Given the description of an element on the screen output the (x, y) to click on. 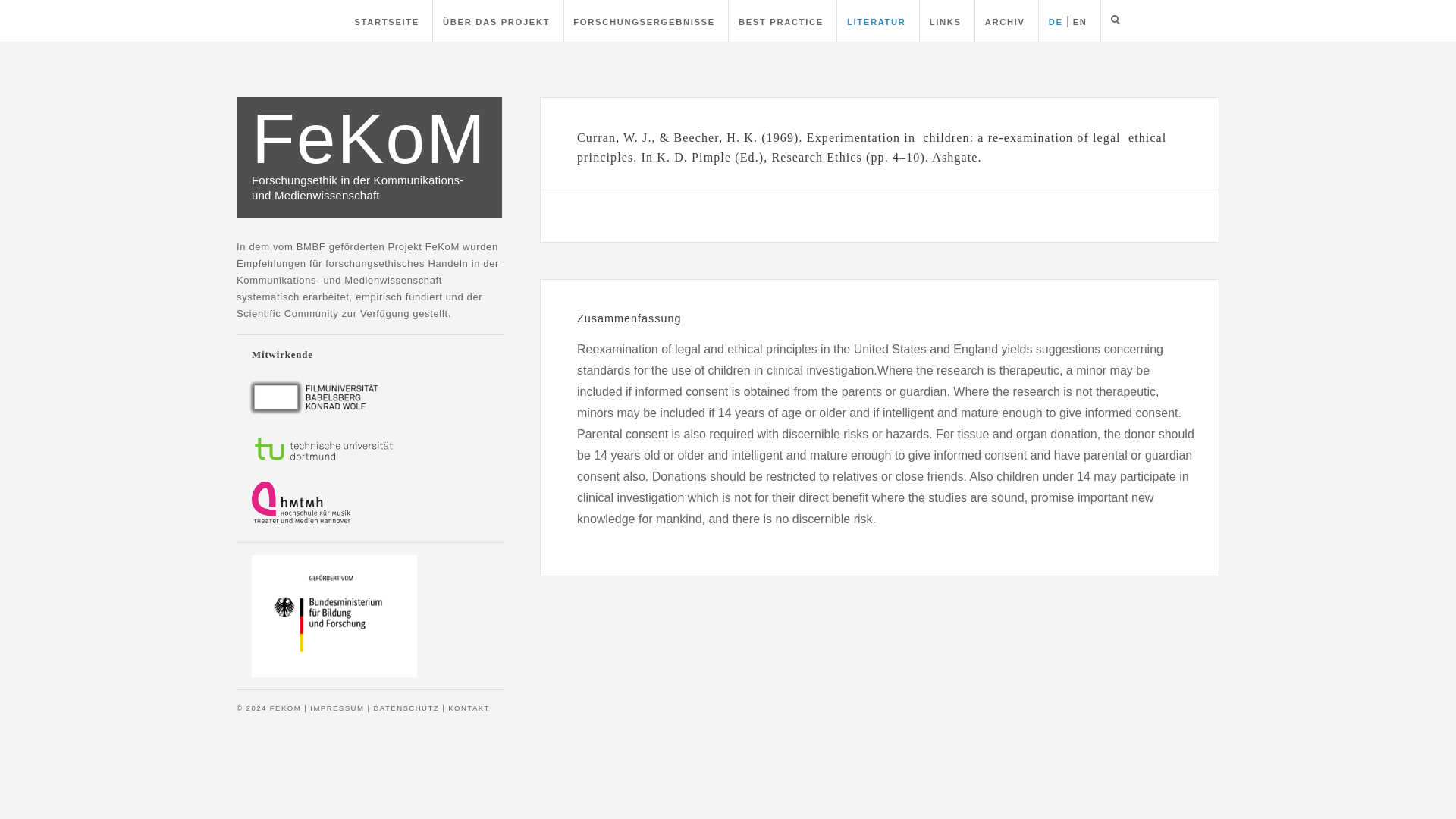
EN (1080, 21)
BEST PRACTICE (781, 21)
STARTSEITE (386, 21)
KONTAKT (468, 707)
ARCHIV (1005, 21)
FORSCHUNGSERGEBNISSE (643, 21)
DATENSCHUTZ (405, 707)
IMPRESSUM (337, 707)
